Given the description of an element on the screen output the (x, y) to click on. 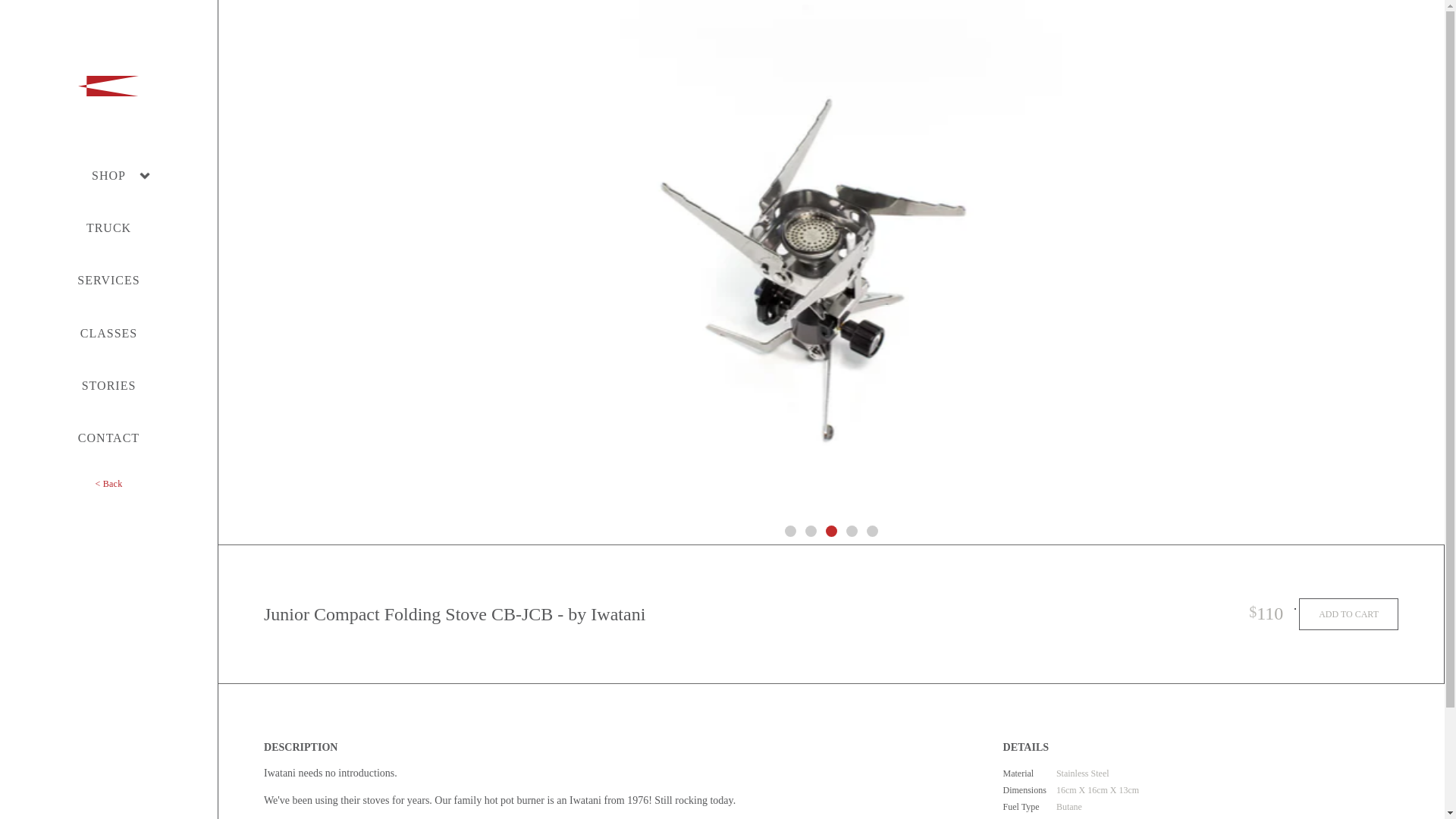
SERVICES (108, 279)
STORIES (108, 385)
SHOP (108, 174)
CONTACT (108, 437)
ADD TO CART (1348, 613)
CLASSES (108, 332)
TRUCK (108, 227)
